Given the description of an element on the screen output the (x, y) to click on. 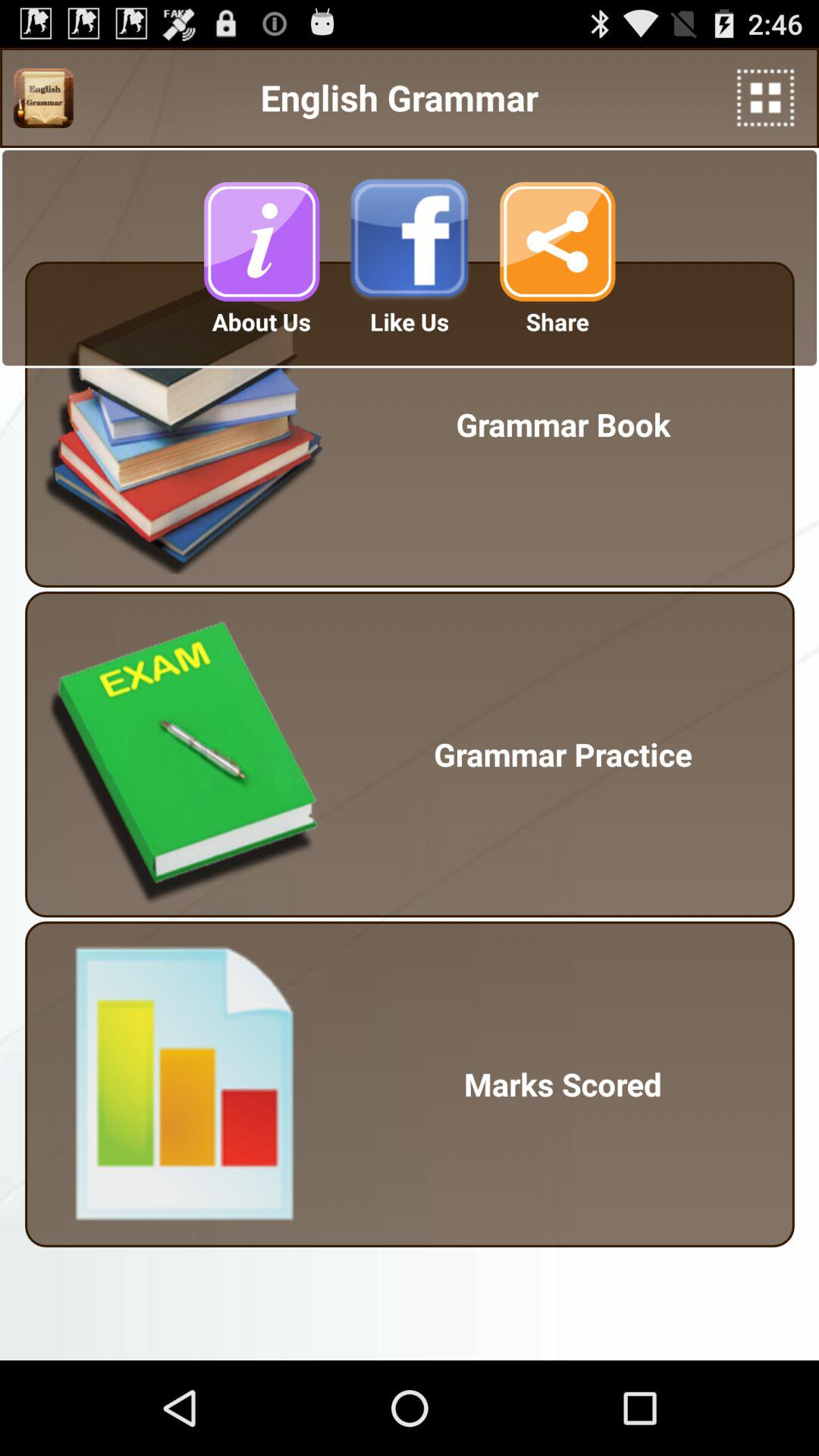
share button (557, 241)
